Given the description of an element on the screen output the (x, y) to click on. 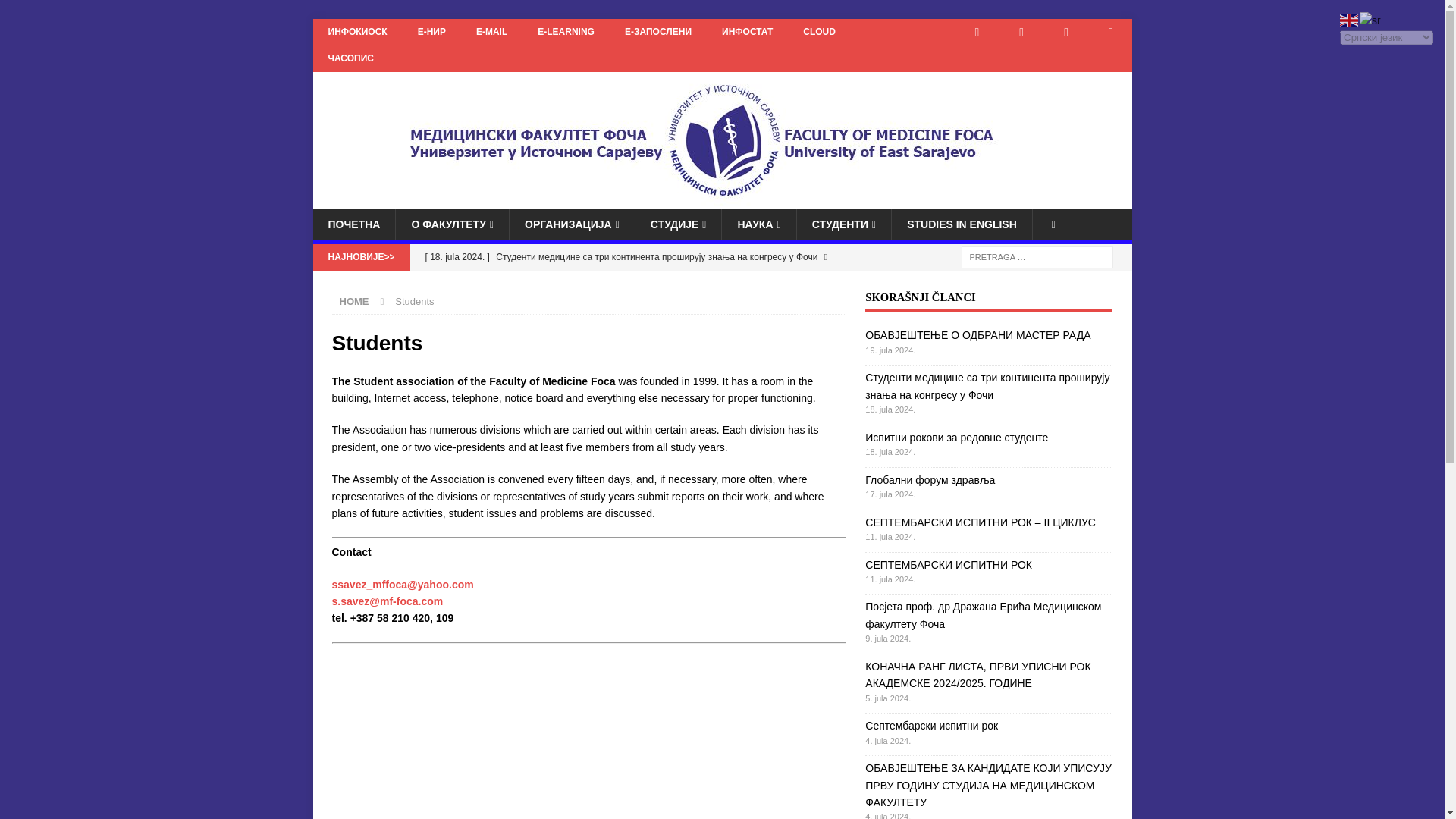
English (1349, 19)
CLOUD (818, 31)
E-MAIL (491, 31)
E-LEARNING (566, 31)
